Given the description of an element on the screen output the (x, y) to click on. 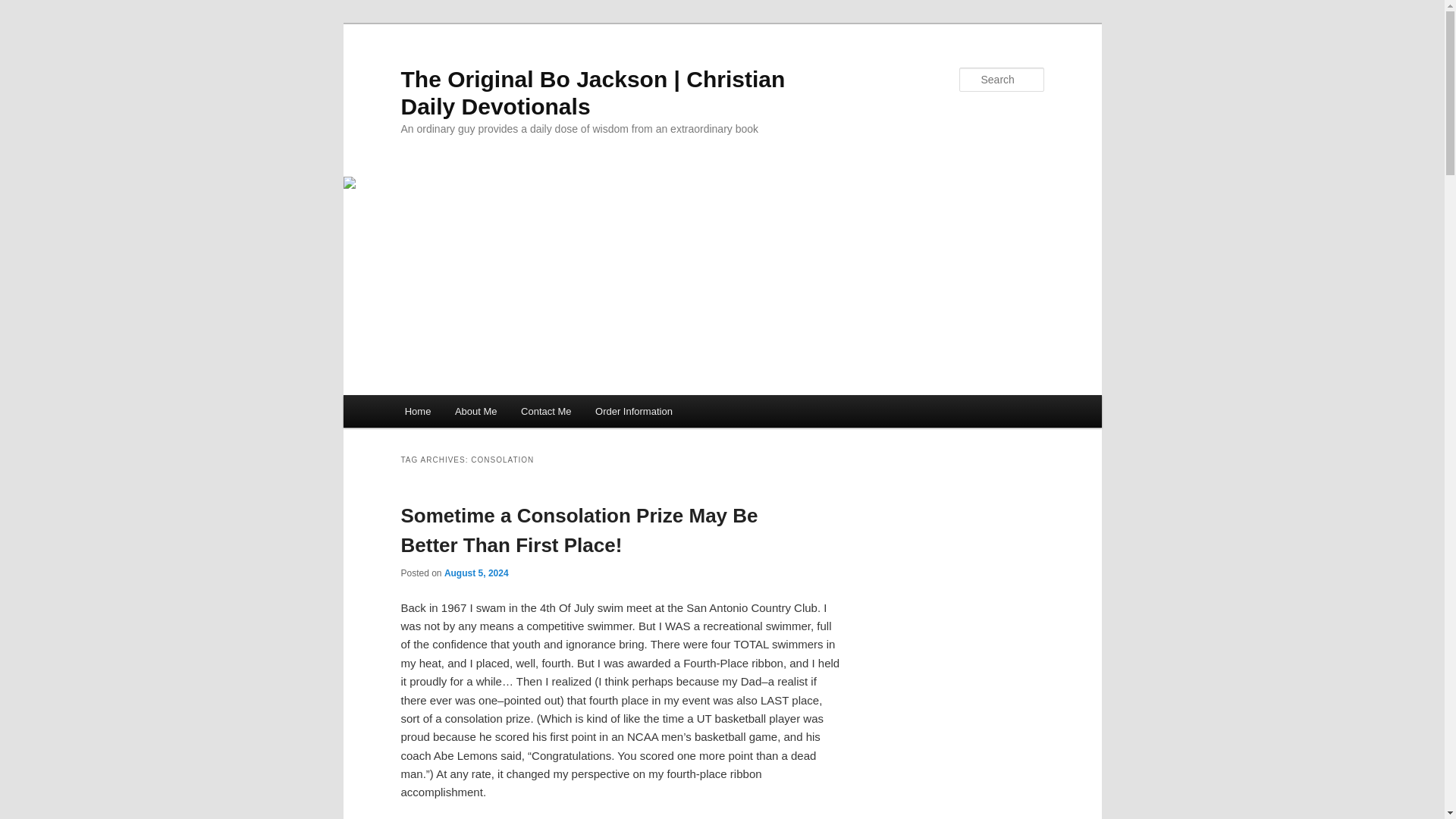
Order Information (633, 410)
Search (24, 8)
Sometime a Consolation Prize May Be Better Than First Place! (578, 530)
7:43 am (476, 573)
Search (21, 11)
August 5, 2024 (476, 573)
About Me (475, 410)
Contact Me (545, 410)
Home (417, 410)
